Given the description of an element on the screen output the (x, y) to click on. 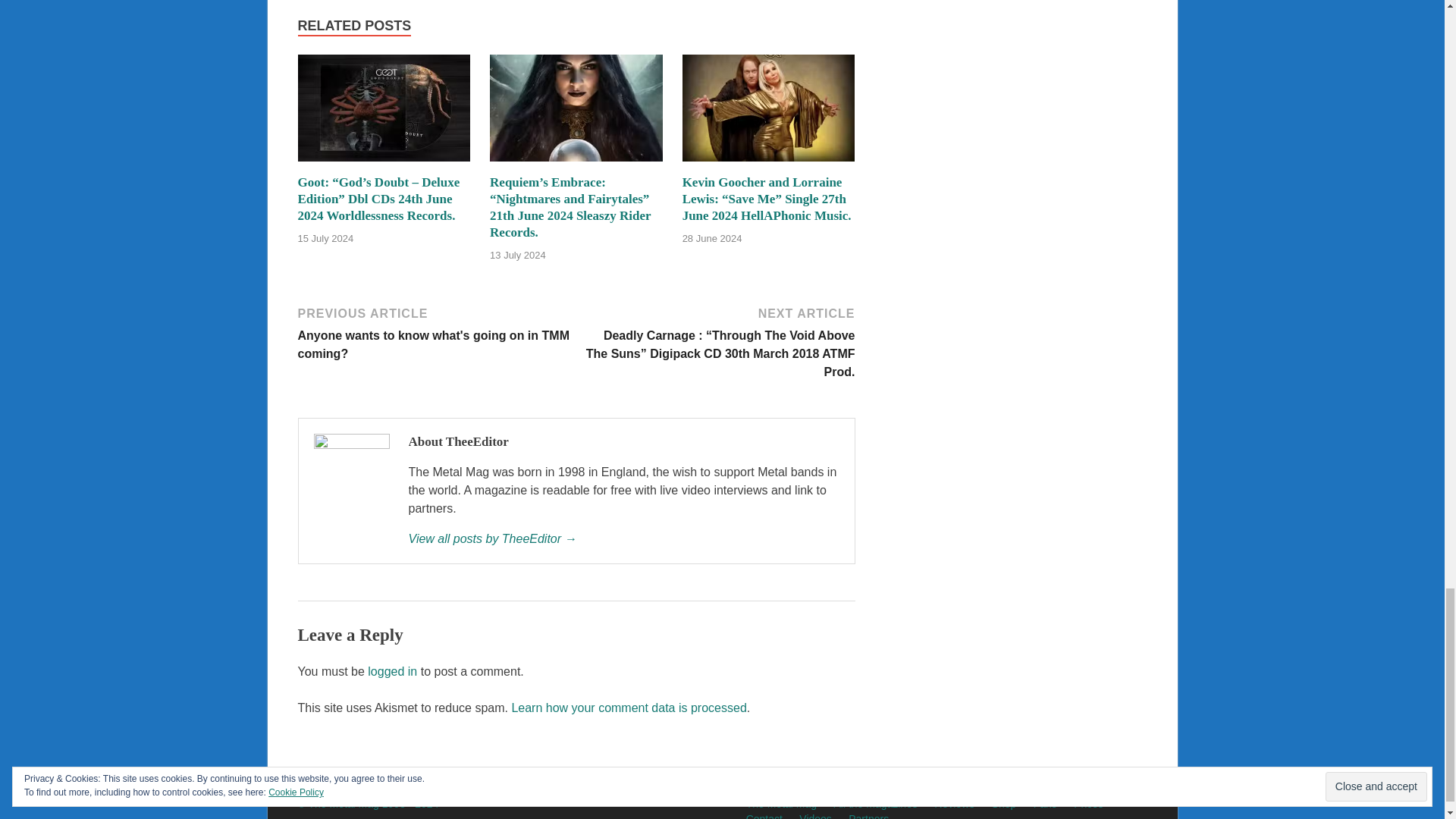
TheeEditor (622, 538)
